Given the description of an element on the screen output the (x, y) to click on. 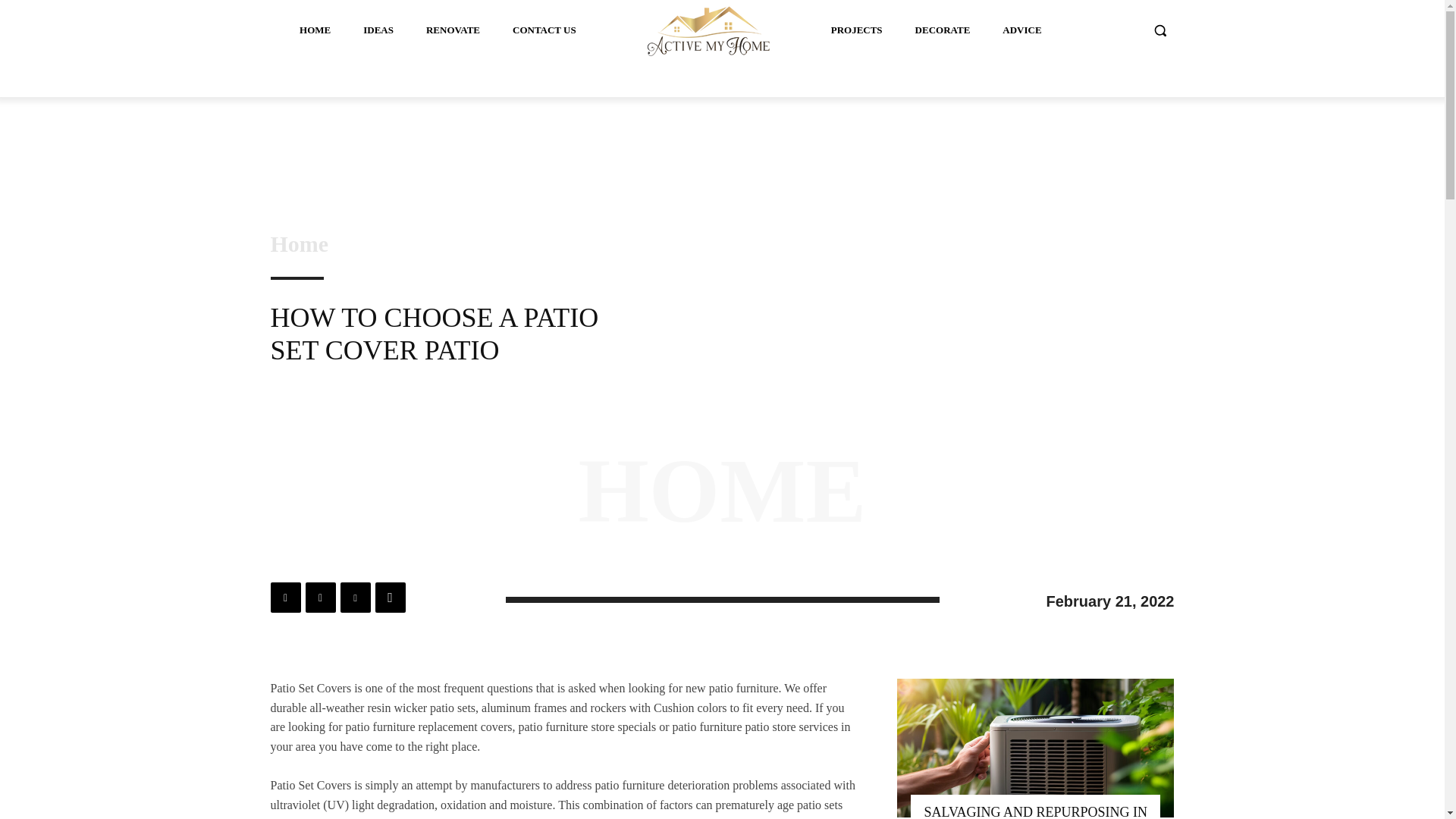
RENOVATE (452, 30)
